Given the description of an element on the screen output the (x, y) to click on. 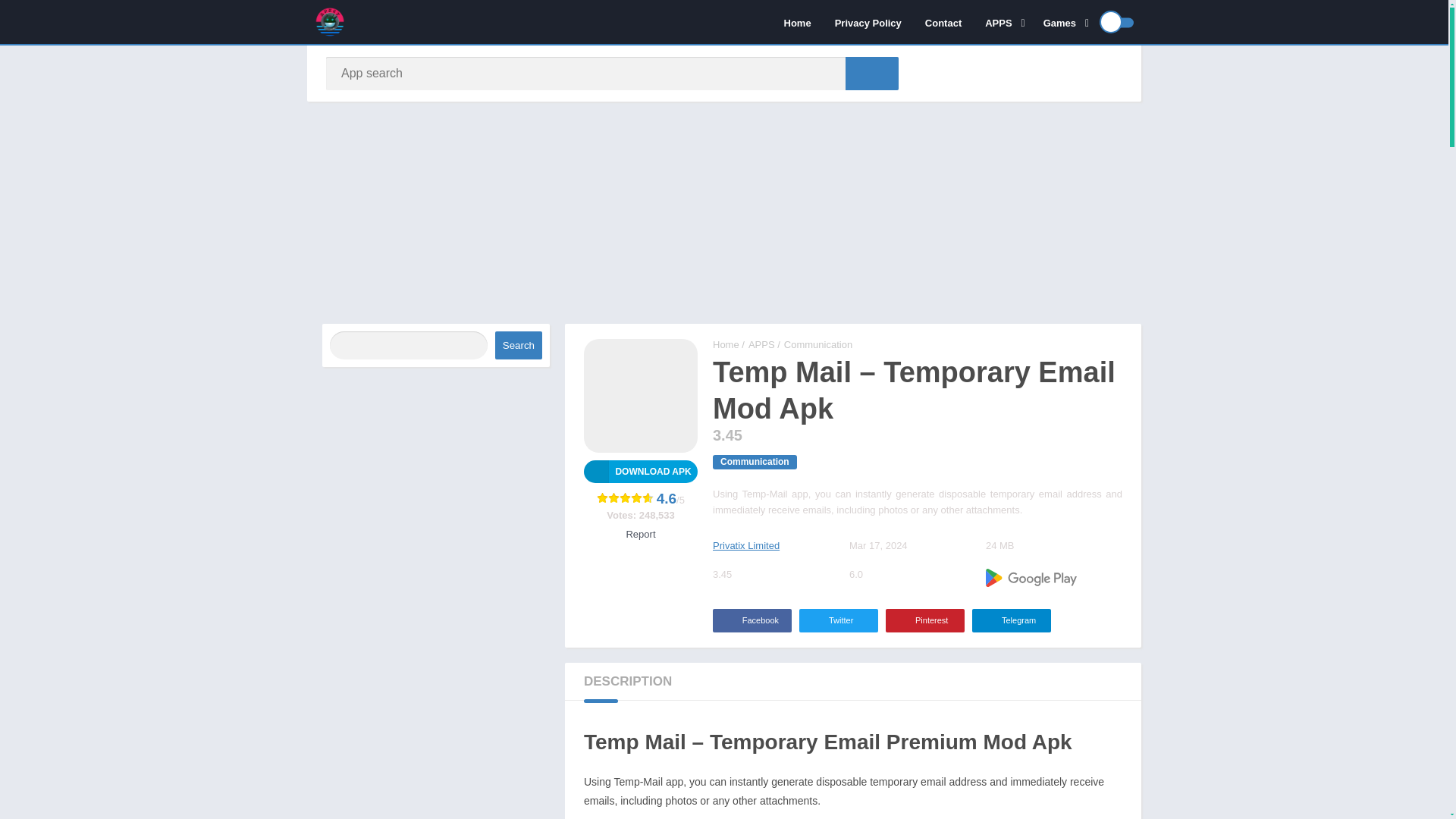
App search (871, 73)
Apk4y (726, 344)
Download APK (640, 471)
